Given the description of an element on the screen output the (x, y) to click on. 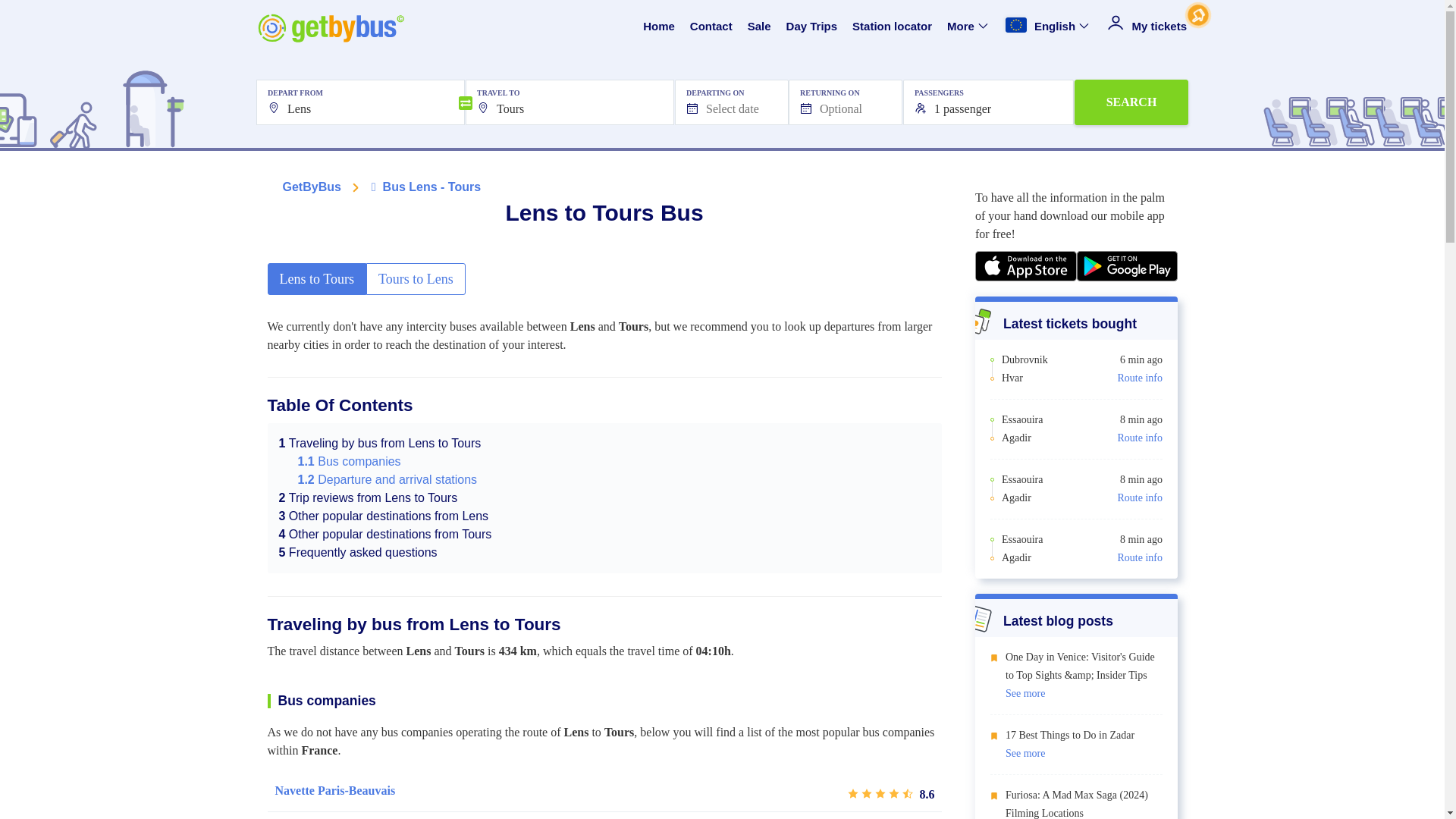
Traveling by bus from Lens to Tours (380, 442)
 My tickets (1146, 26)
Tours (569, 102)
Tours to Lens (415, 278)
Day Trips (812, 26)
1 passenger (988, 102)
Station locator (891, 26)
Other popular destinations from Tours (385, 533)
Home (659, 26)
Frequently asked questions (358, 552)
Contact (711, 26)
Navette Paris-Beauvais (334, 791)
Departure and arrival stations (387, 479)
Bus companies (348, 461)
Lens (360, 102)
